Given the description of an element on the screen output the (x, y) to click on. 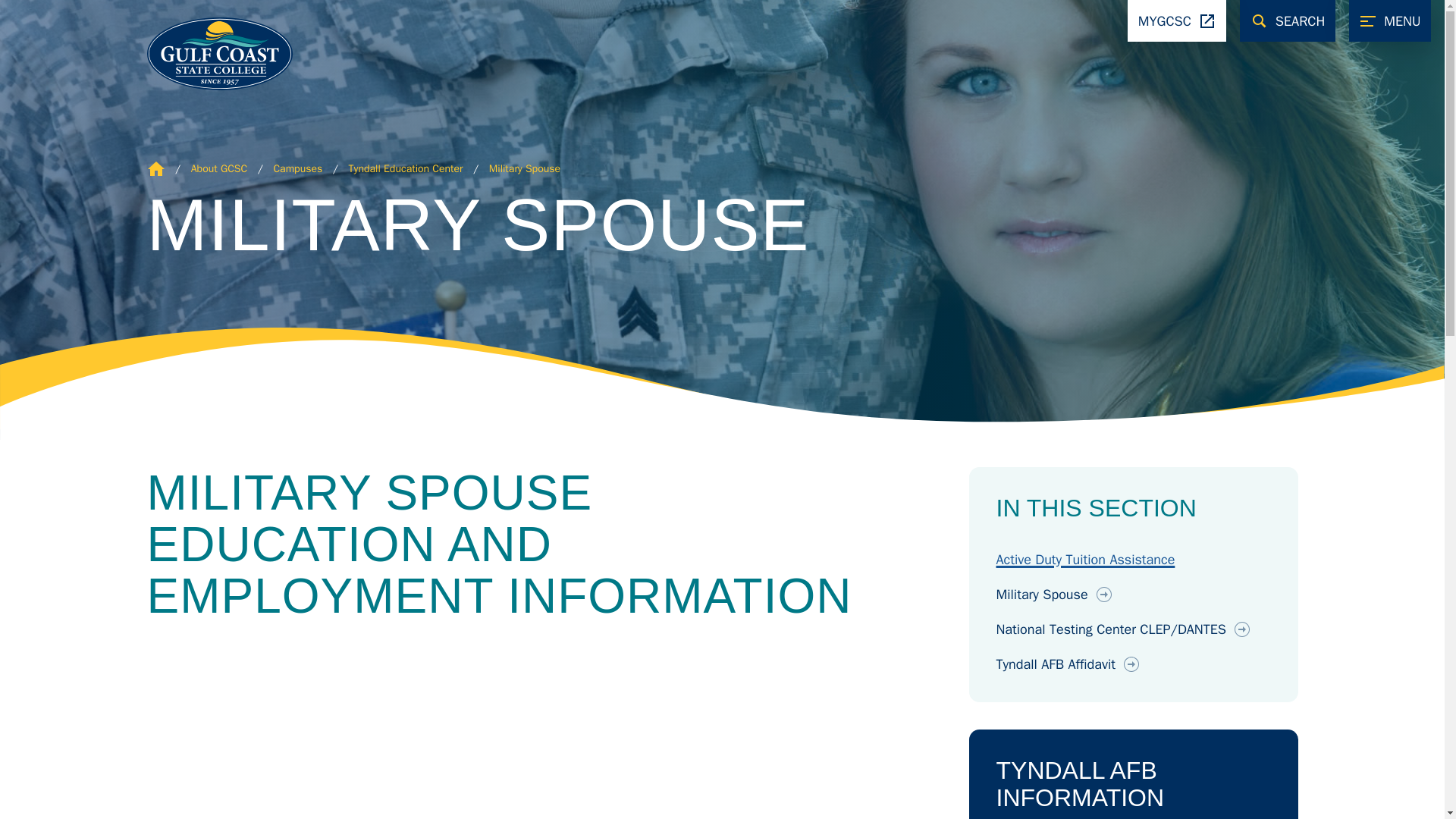
Active Duty Tuition Assistance (1084, 559)
Tyndall Education Center (406, 168)
Military Spouse (307, 727)
Gulf Coast State College Homepage (203, 52)
Go to this page (297, 168)
Home (156, 168)
MENU (1390, 20)
Gulf Coast State College Homepage (156, 168)
Tyndall AFB Affidavit (1133, 663)
Go to this page (524, 168)
